Given the description of an element on the screen output the (x, y) to click on. 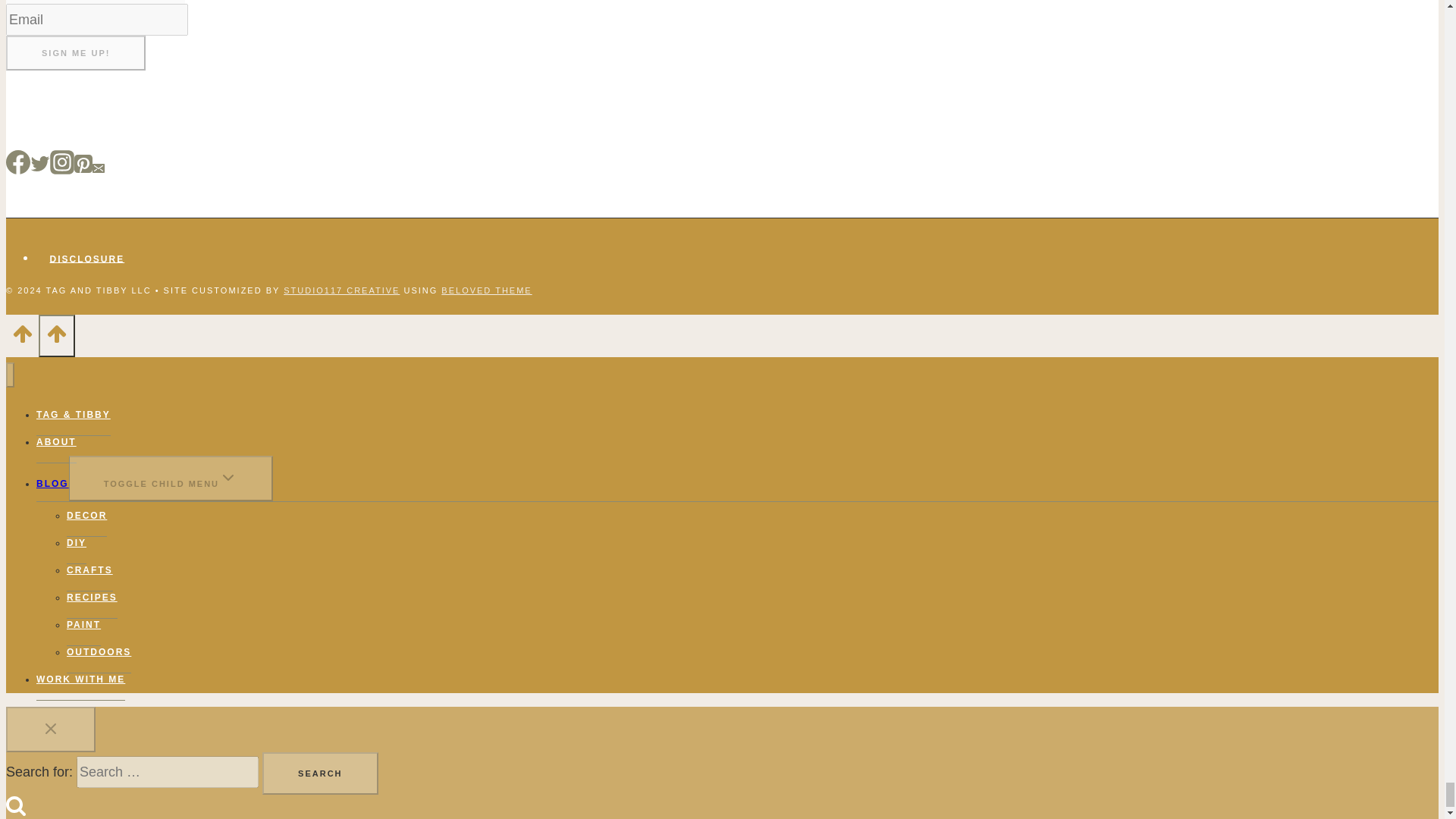
SCROLL TO TOP (56, 335)
Facebook (17, 161)
Search (319, 773)
Twitter (39, 163)
Instagram (61, 161)
Search (319, 773)
Scroll to top (22, 337)
